Given the description of an element on the screen output the (x, y) to click on. 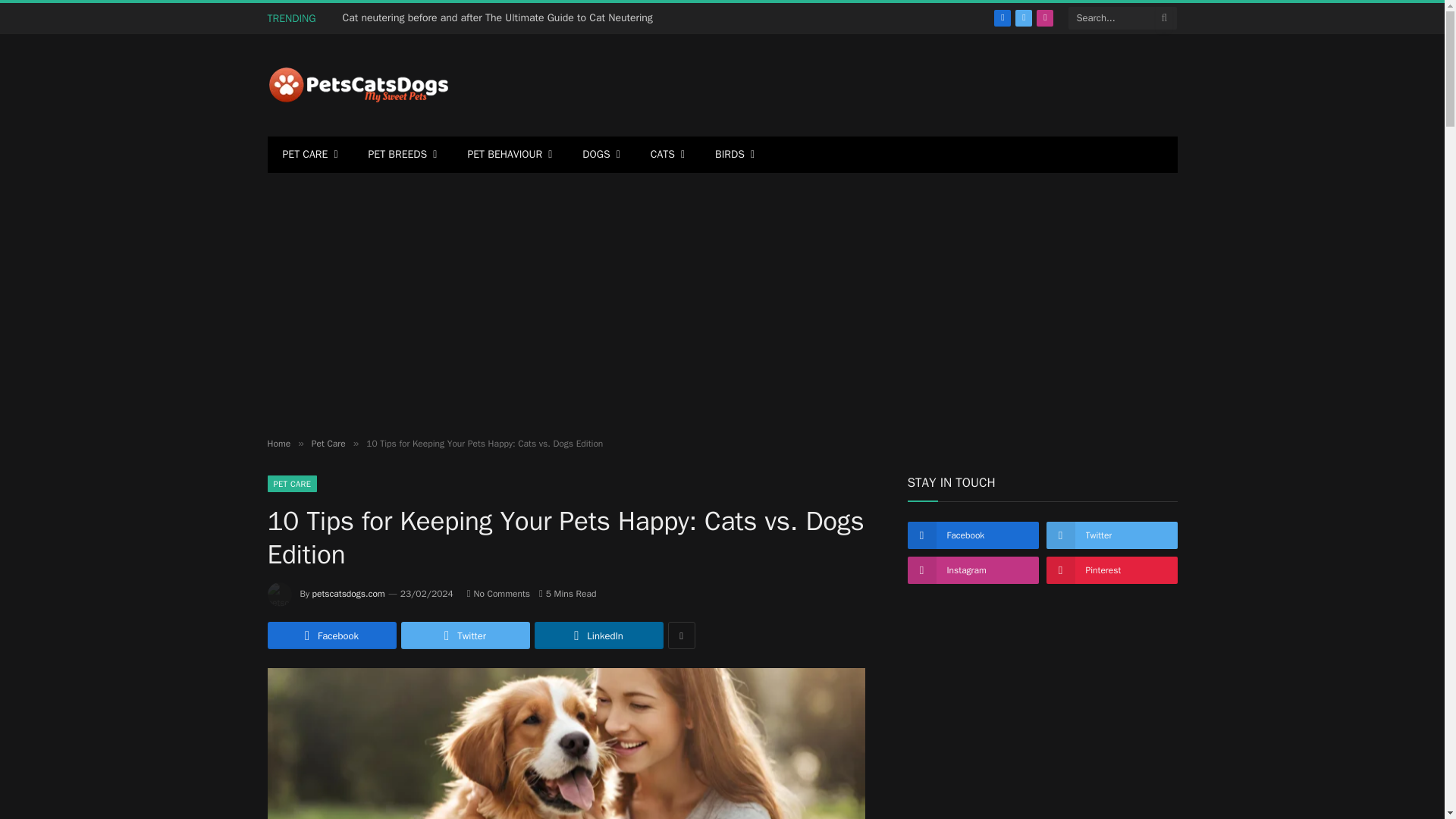
PET CARE (309, 154)
Facebook (1002, 17)
PetsCatsDogs (357, 85)
Instagram (1044, 17)
